Given the description of an element on the screen output the (x, y) to click on. 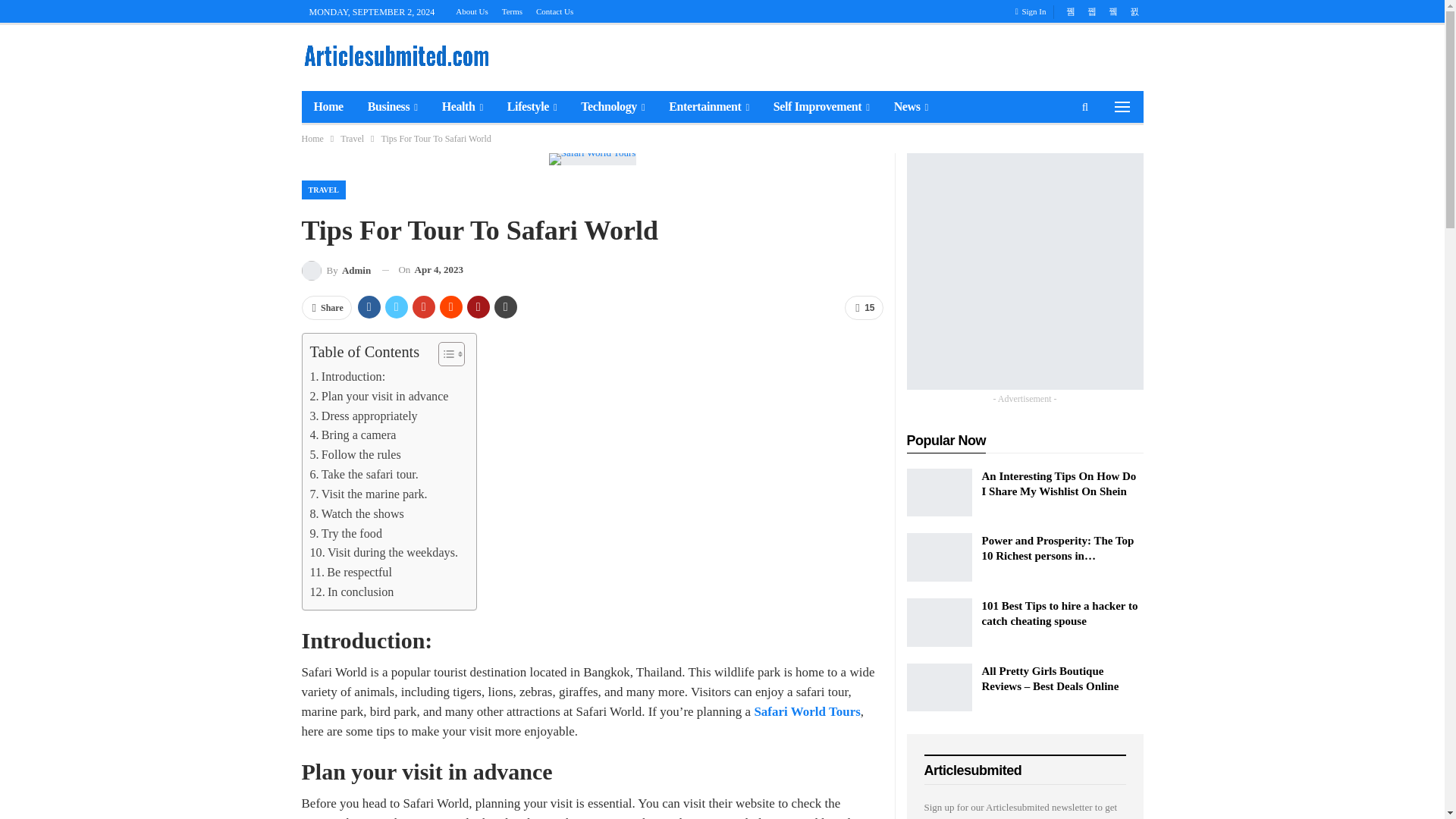
Try the food (344, 533)
Technology (612, 106)
Follow the rules (354, 455)
Watch the shows (355, 514)
Visit during the weekdays. (382, 552)
Sign In (1033, 11)
Take the safari tour. (362, 474)
Business (392, 106)
Browse Author Articles (336, 270)
Dress appropriately (362, 415)
